Given the description of an element on the screen output the (x, y) to click on. 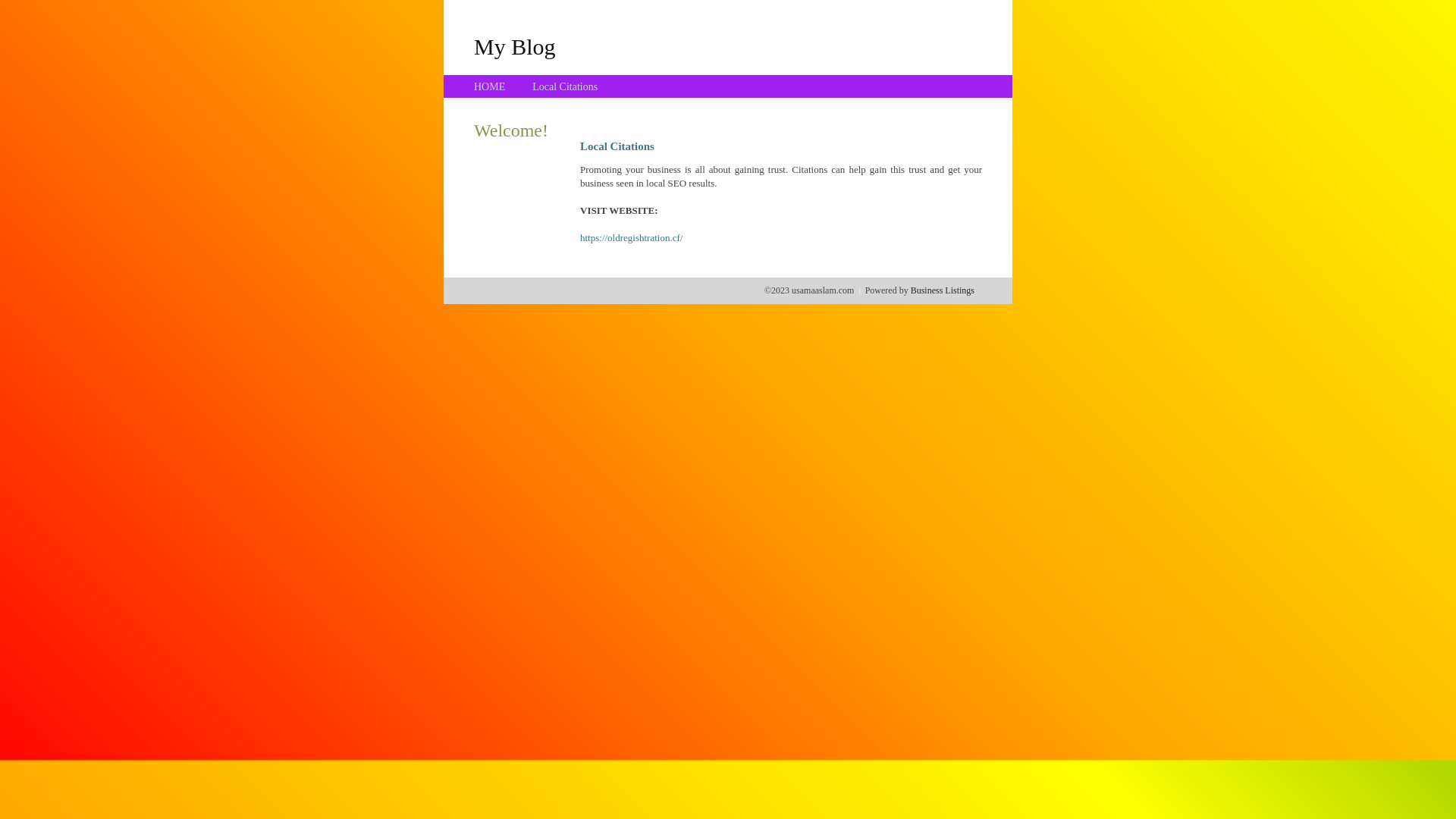
Business Listings Element type: text (942, 290)
HOME Element type: text (489, 86)
My Blog Element type: text (514, 46)
https://oldregishtration.cf/ Element type: text (631, 237)
Local Citations Element type: text (564, 86)
